Given the description of an element on the screen output the (x, y) to click on. 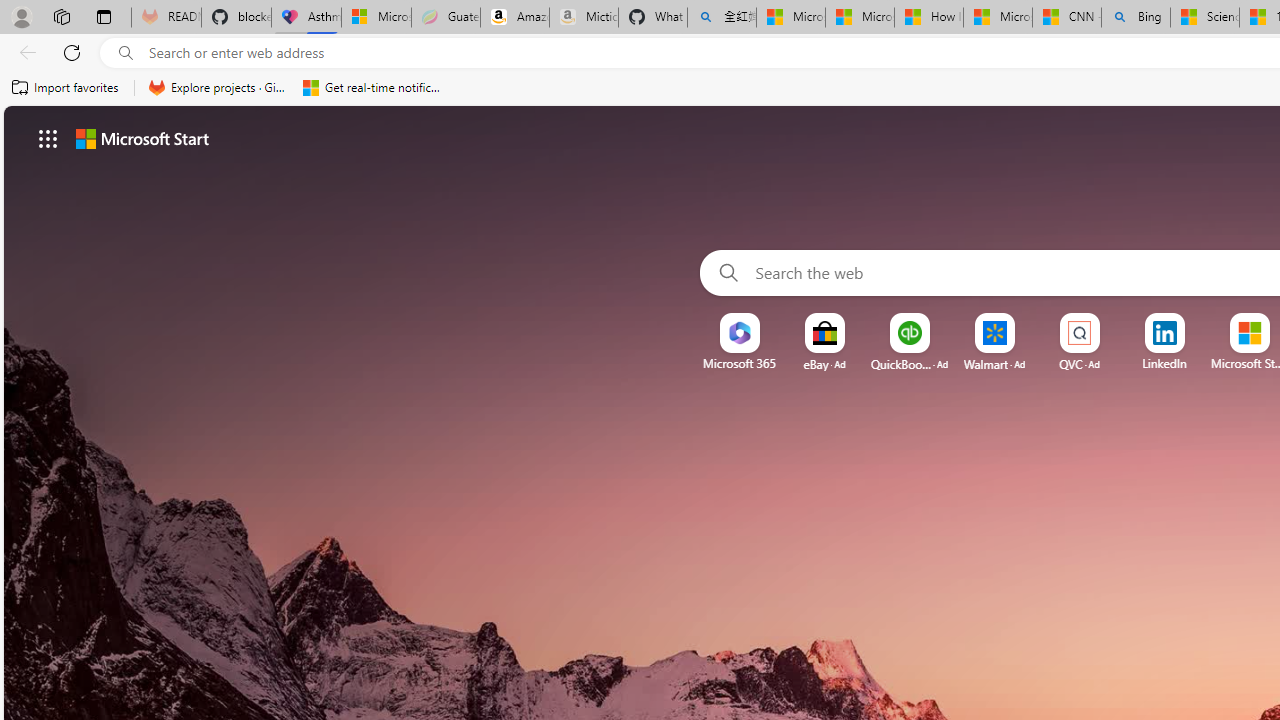
Import favorites (65, 88)
App launcher (47, 138)
